Given the description of an element on the screen output the (x, y) to click on. 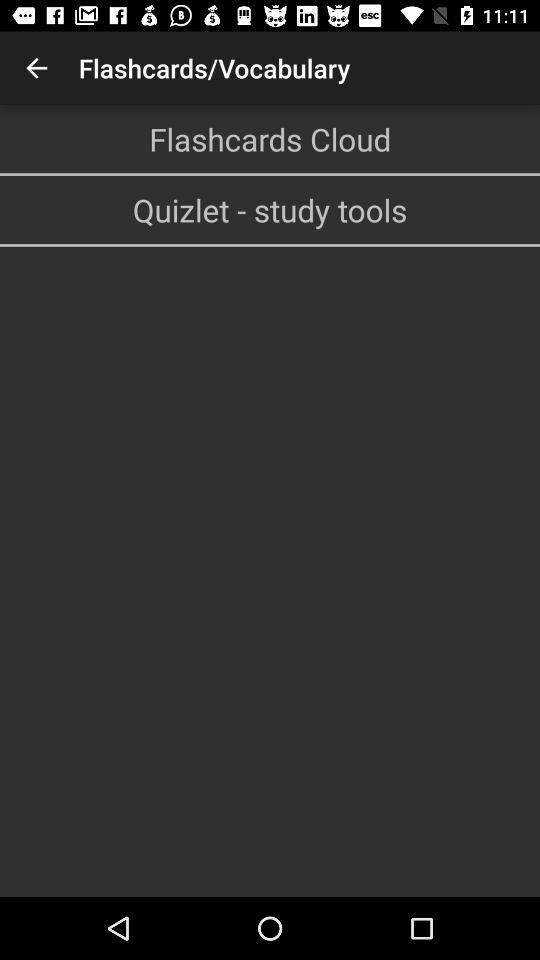
choose item next to flashcards/vocabulary app (36, 68)
